Given the description of an element on the screen output the (x, y) to click on. 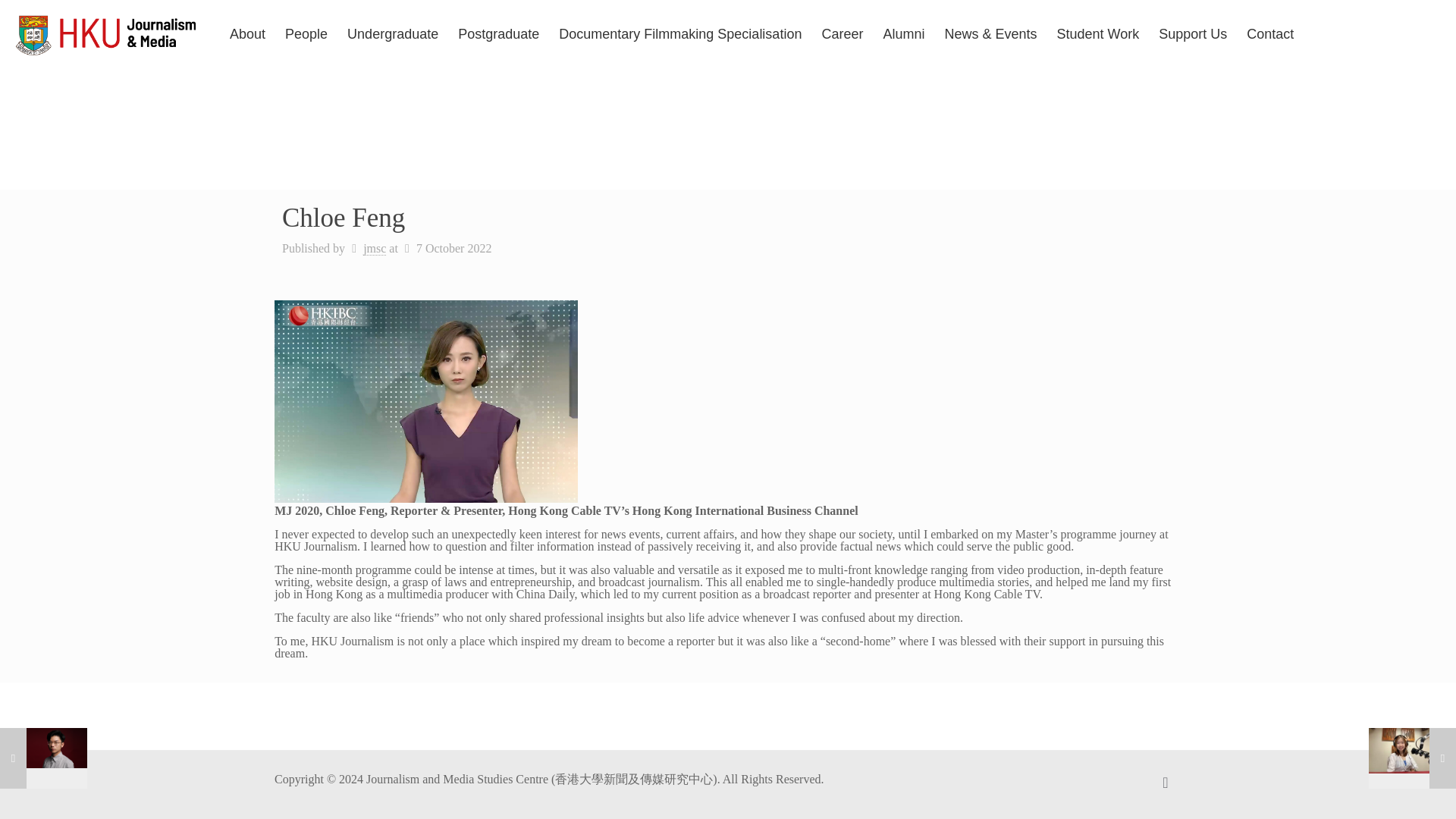
Career (841, 33)
Alumni (903, 33)
People (306, 33)
Documentary Filmmaking Specialisation (679, 33)
Undergraduate (392, 33)
Postgraduate (498, 33)
